Given the description of an element on the screen output the (x, y) to click on. 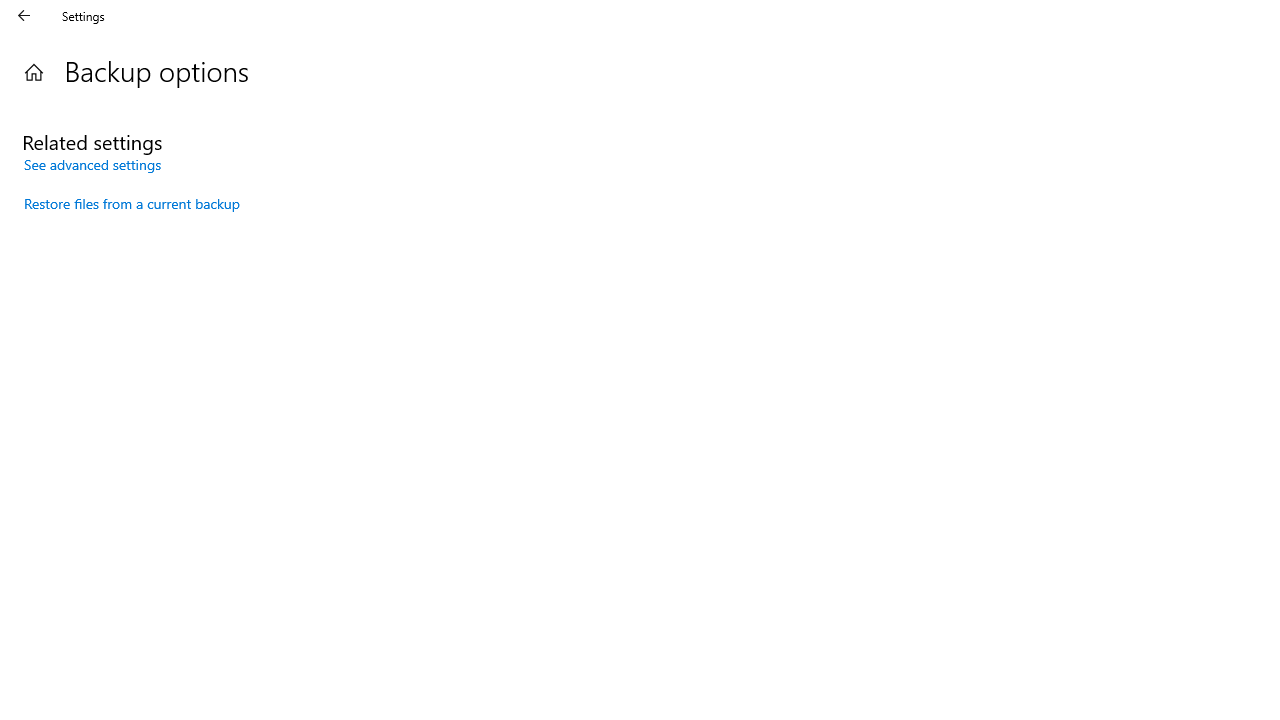
Back (24, 15)
Restore files from a current backup (132, 203)
See advanced settings (93, 164)
Home (33, 71)
